Given the description of an element on the screen output the (x, y) to click on. 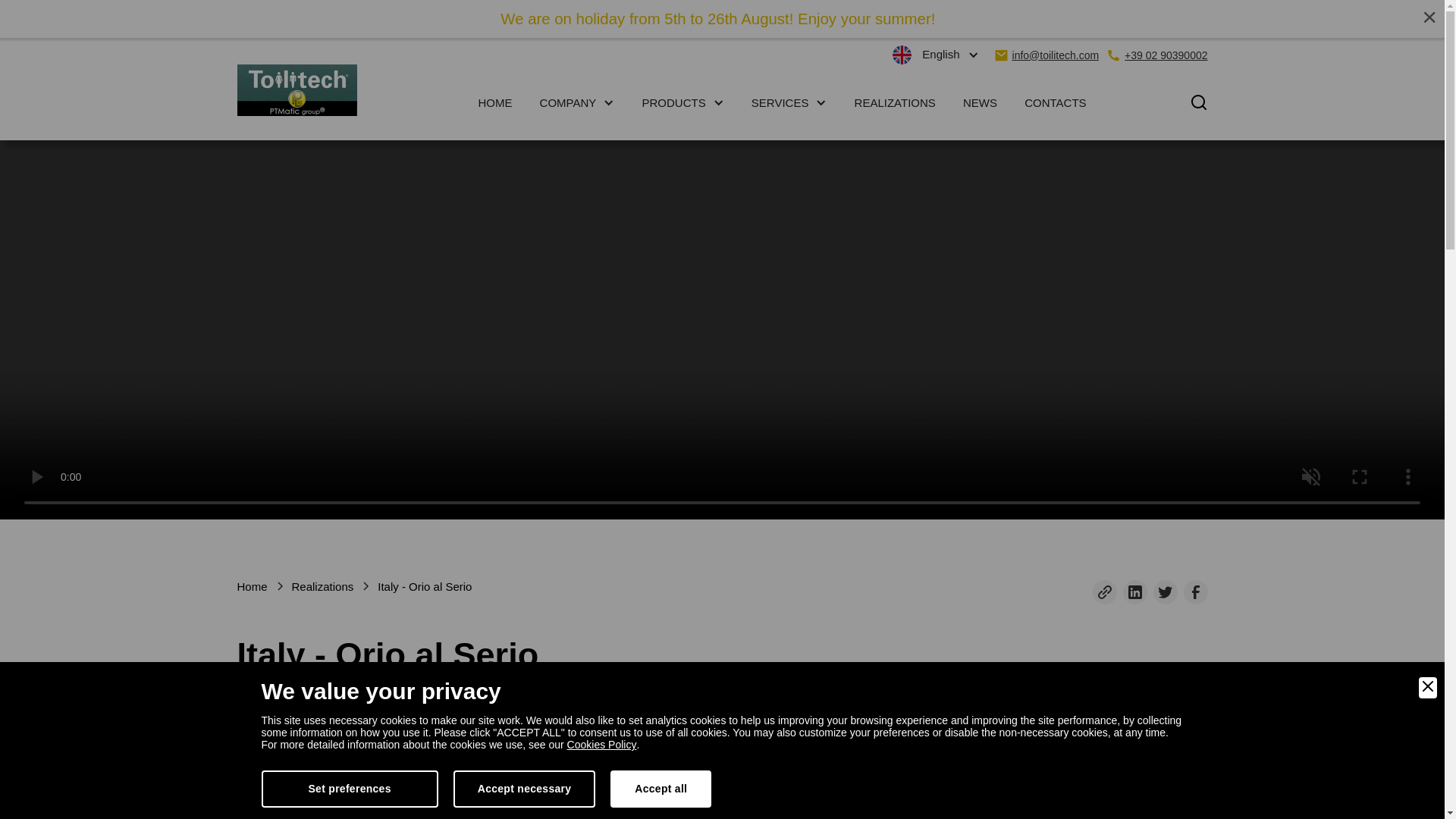
REALIZATIONS (895, 102)
Home (250, 586)
Realizations (322, 586)
CONTACTS (1054, 102)
Realizations (322, 586)
Italy - Orio al Serio (424, 586)
Home (250, 586)
